Given the description of an element on the screen output the (x, y) to click on. 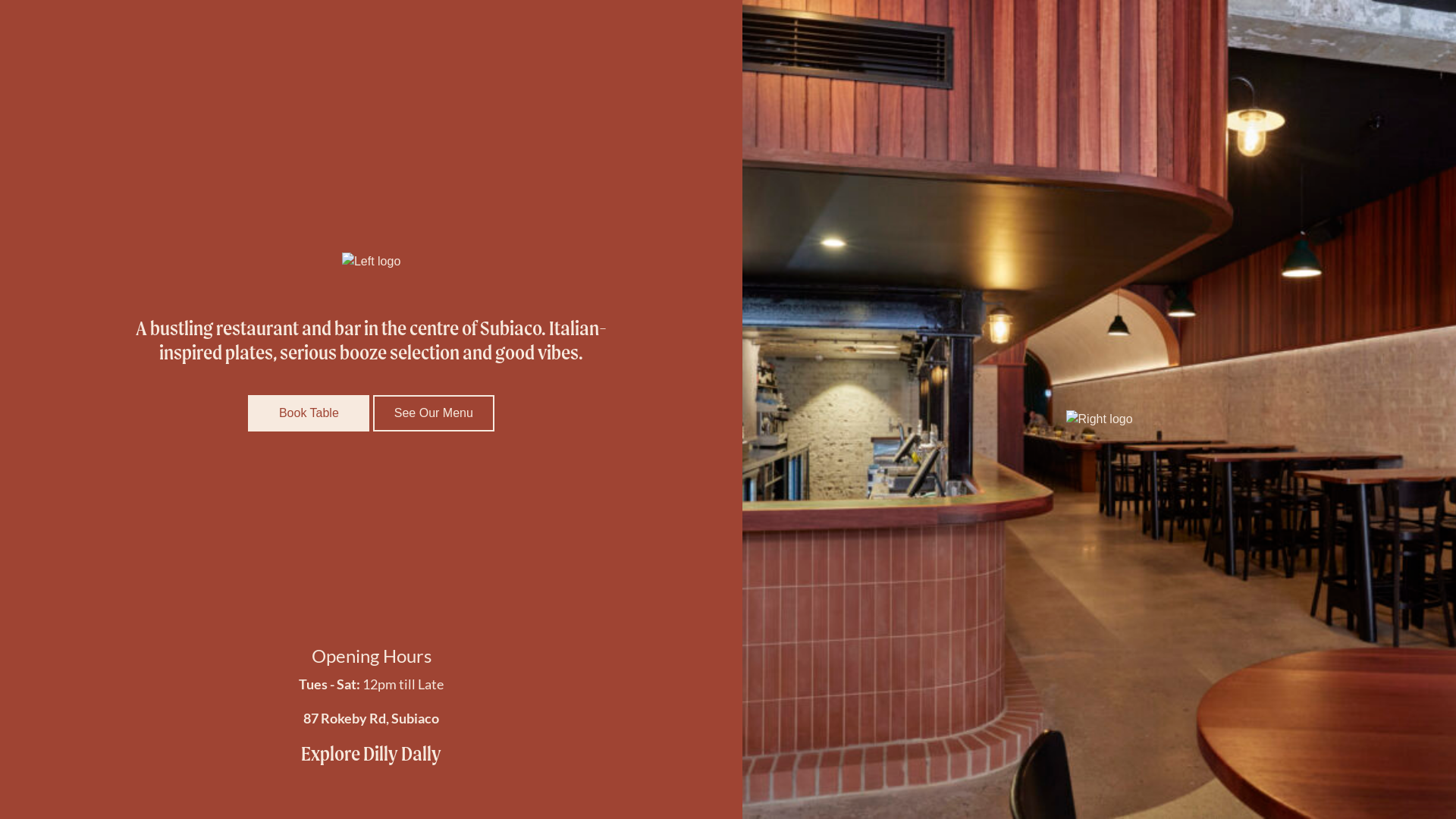
Explore Dilly Dally Element type: text (370, 753)
See Our Menu Element type: text (433, 413)
Book Table Element type: text (308, 413)
